Given the description of an element on the screen output the (x, y) to click on. 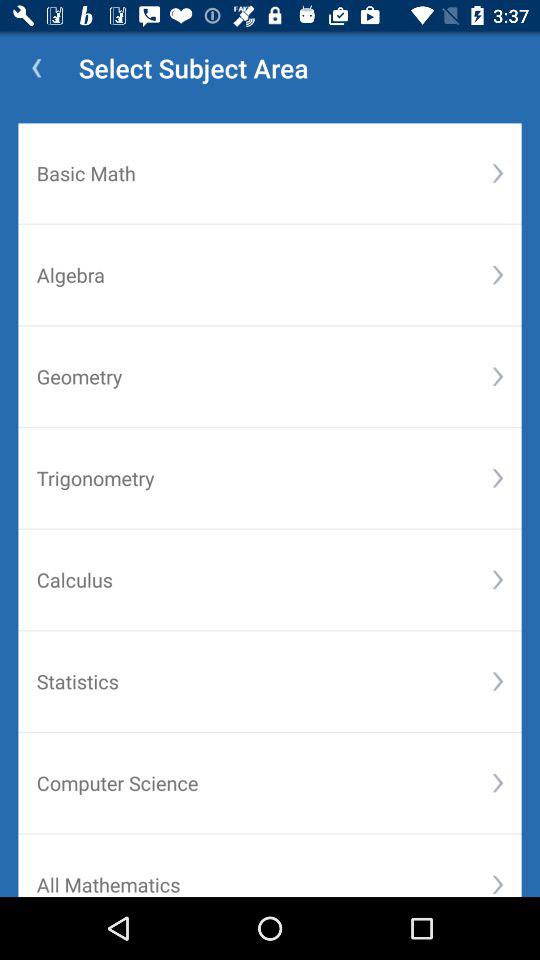
tap icon above basic math item (36, 68)
